Given the description of an element on the screen output the (x, y) to click on. 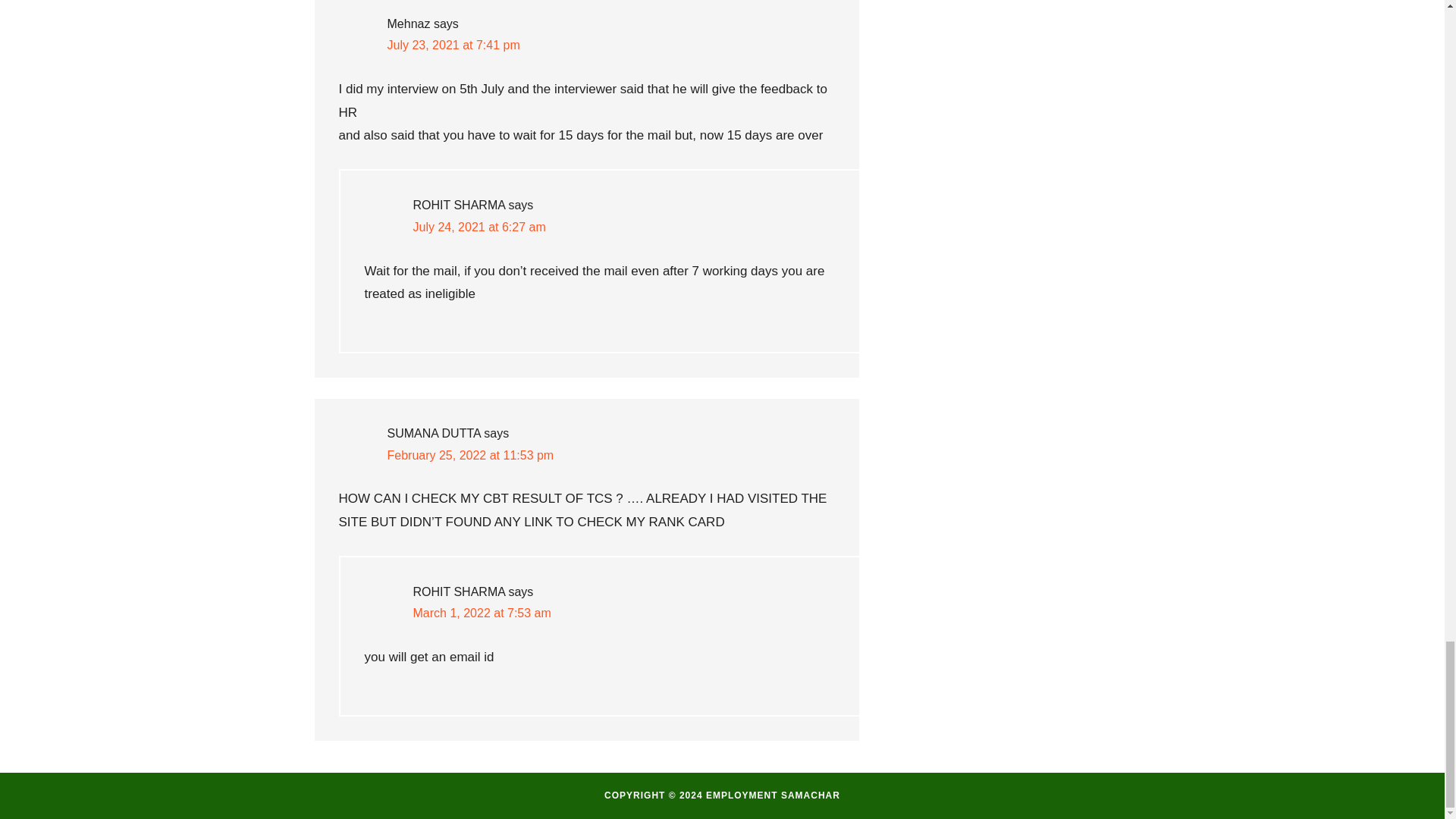
EMPLOYMENT SAMACHAR (773, 795)
March 1, 2022 at 7:53 am (481, 612)
July 24, 2021 at 6:27 am (478, 226)
February 25, 2022 at 11:53 pm (470, 454)
July 23, 2021 at 7:41 pm (453, 44)
